Given the description of an element on the screen output the (x, y) to click on. 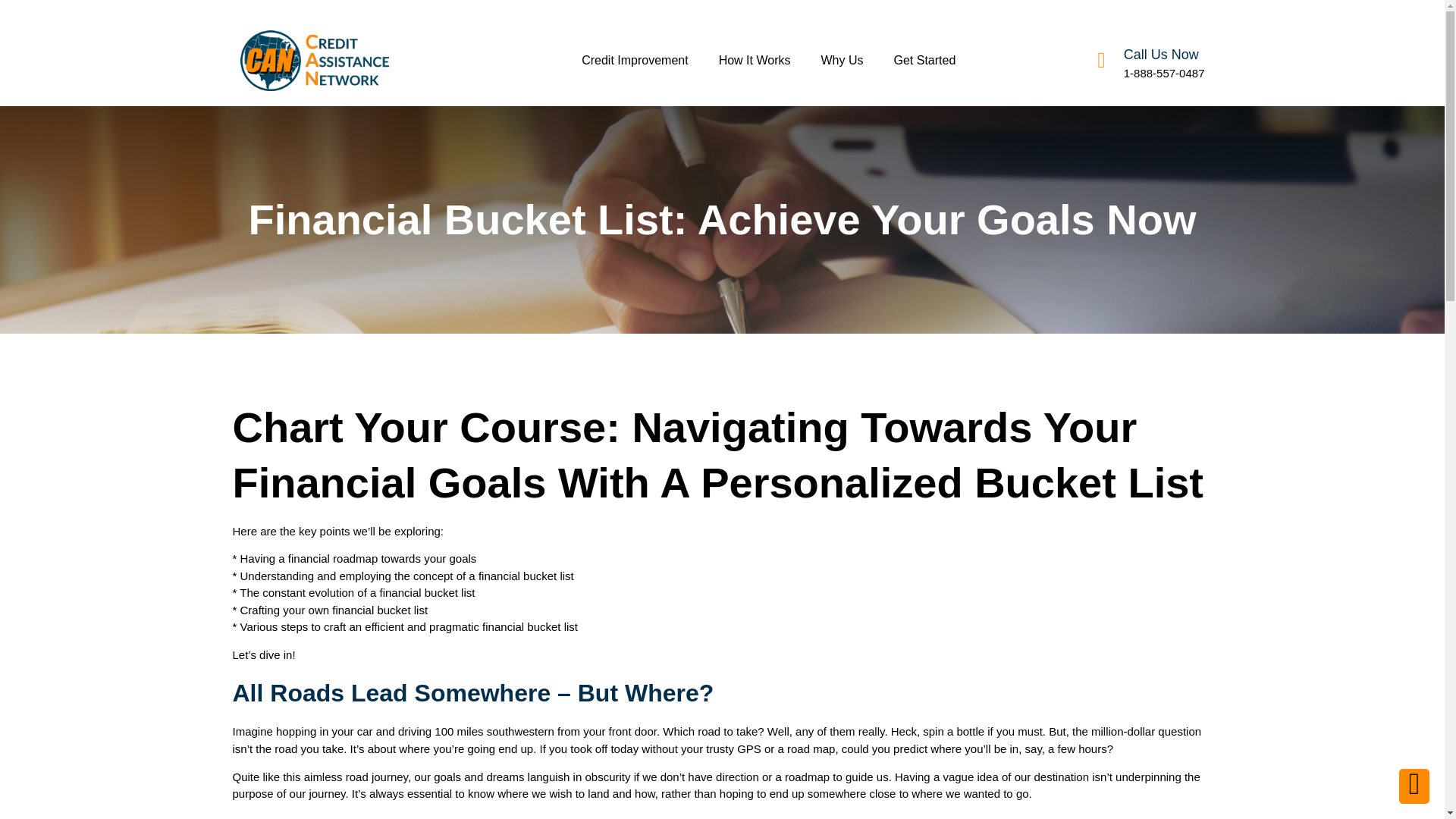
Why Us (841, 60)
Credit Improvement (634, 60)
Get Started (924, 60)
How It Works (754, 60)
1-888-557-0487 (1164, 72)
